Given the description of an element on the screen output the (x, y) to click on. 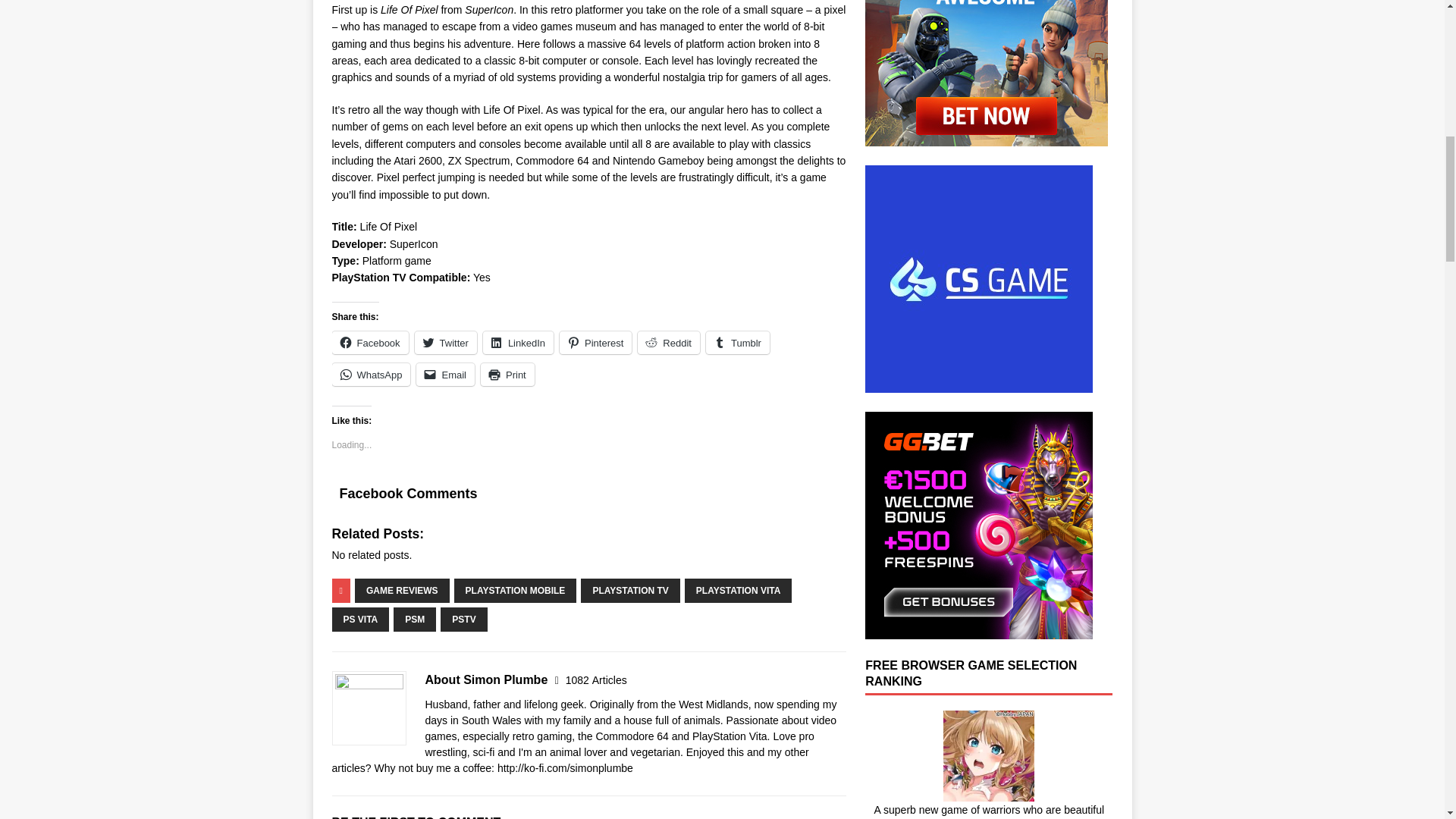
Click to email a link to a friend (445, 374)
Click to share on Reddit (668, 342)
Click to share on Twitter (445, 342)
Click to share on LinkedIn (518, 342)
Click to share on WhatsApp (370, 374)
More articles written by Simon Plumbe' (596, 680)
free spiny zdarma bez vkladu (978, 383)
Click to share on Pinterest (595, 342)
Click to share on Tumblr (738, 342)
Click to print (507, 374)
